Given the description of an element on the screen output the (x, y) to click on. 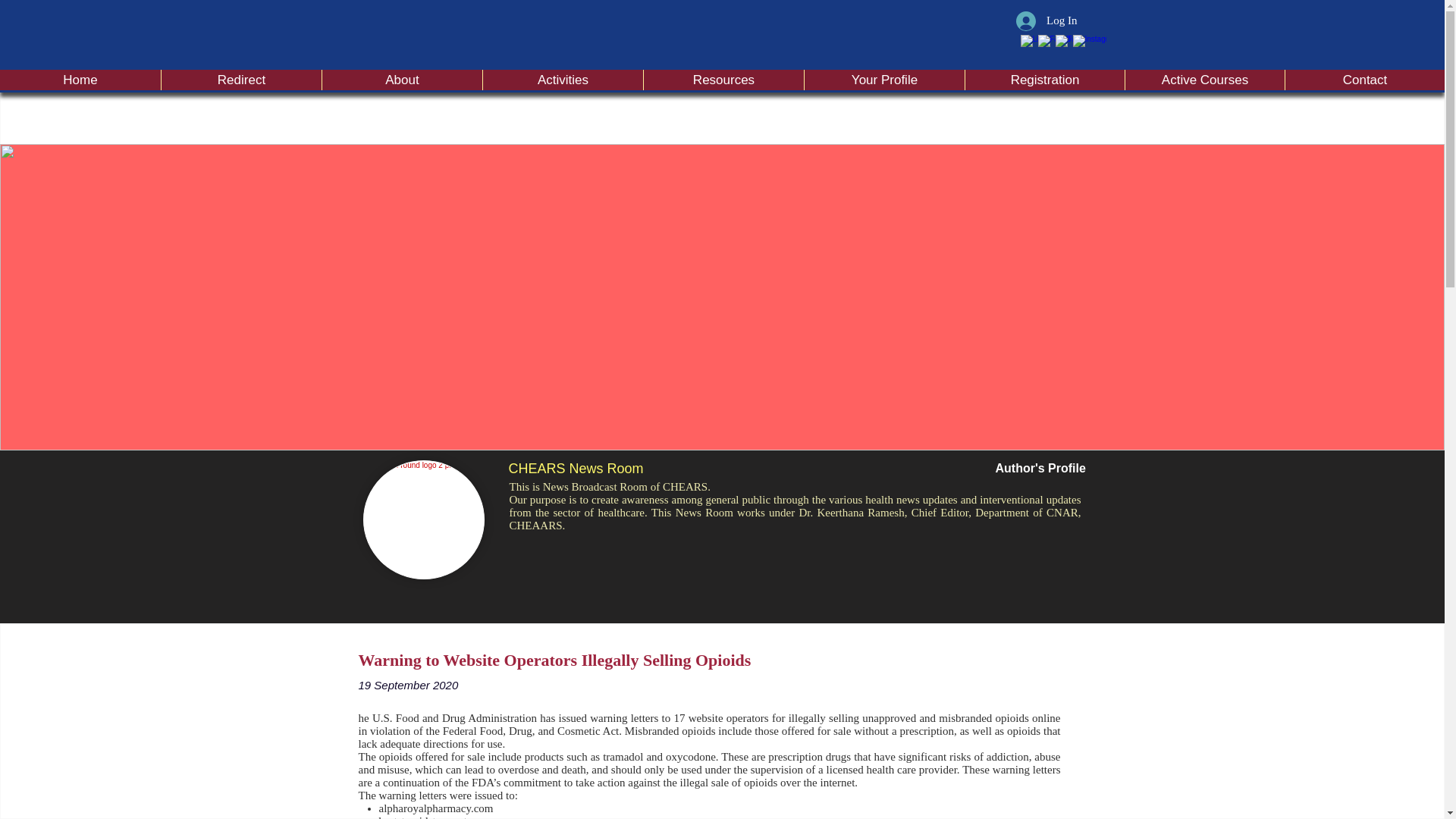
Activities (562, 79)
chears round logo 2 png.png (422, 519)
Author's Profile (1039, 468)
About (401, 79)
Active Courses (1204, 79)
Redirect (240, 79)
Your Profile (883, 79)
Resources (723, 79)
Home (80, 79)
Registration (1043, 79)
